Given the description of an element on the screen output the (x, y) to click on. 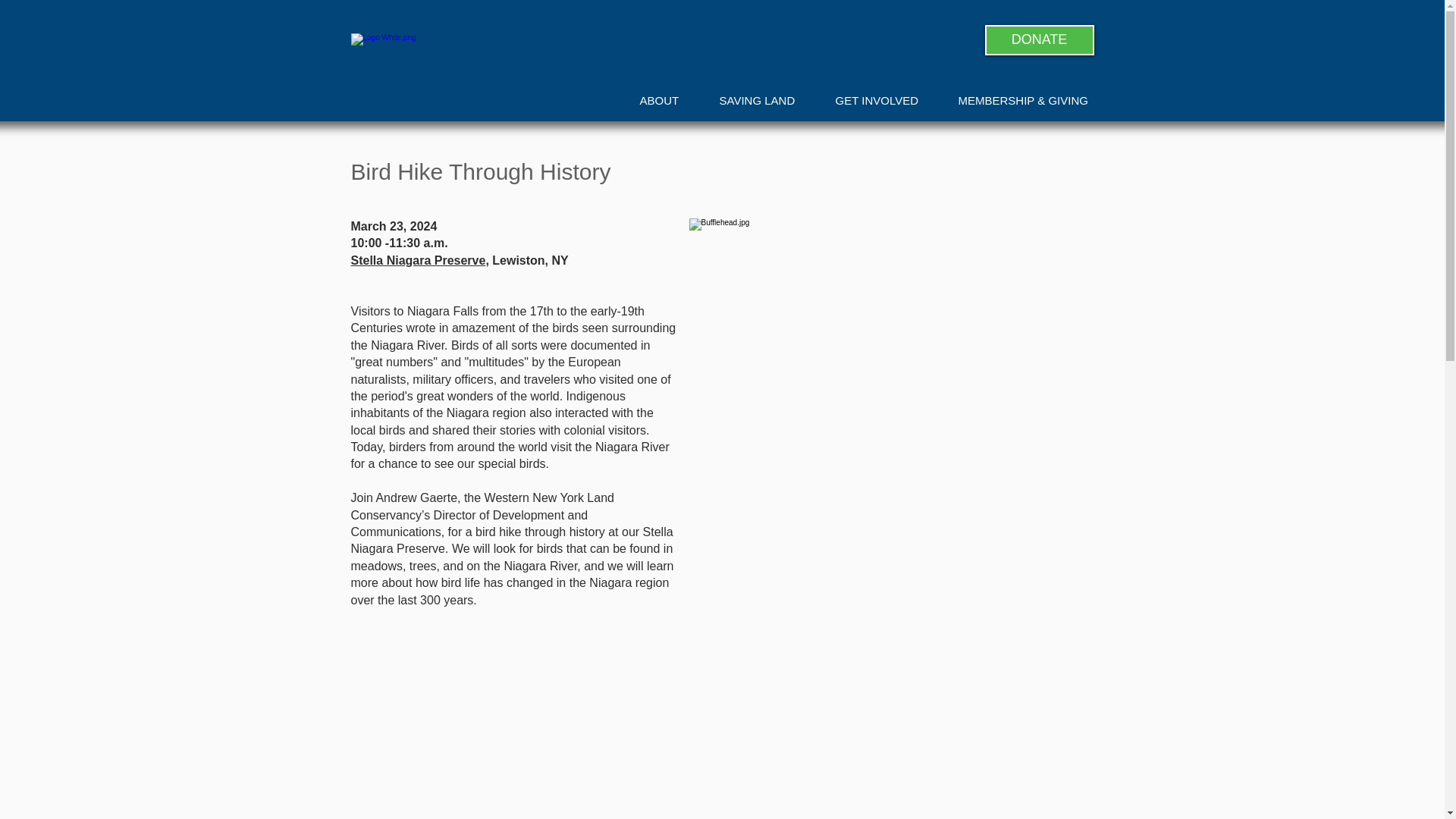
Stella Niagara Preserve (417, 259)
DONATE (1038, 40)
Logo.jpg (466, 60)
